Given the description of an element on the screen output the (x, y) to click on. 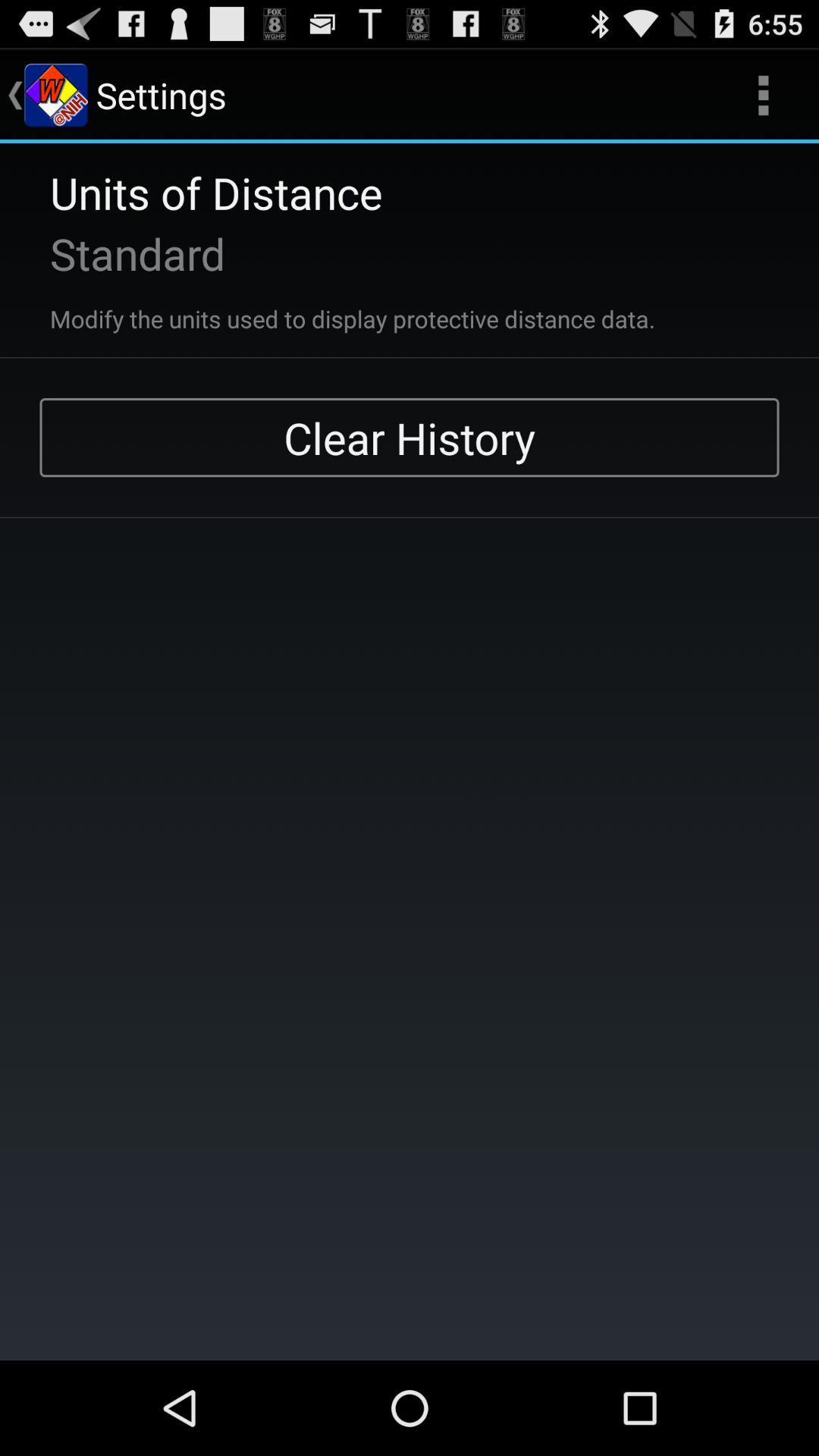
turn off clear history app (409, 437)
